Given the description of an element on the screen output the (x, y) to click on. 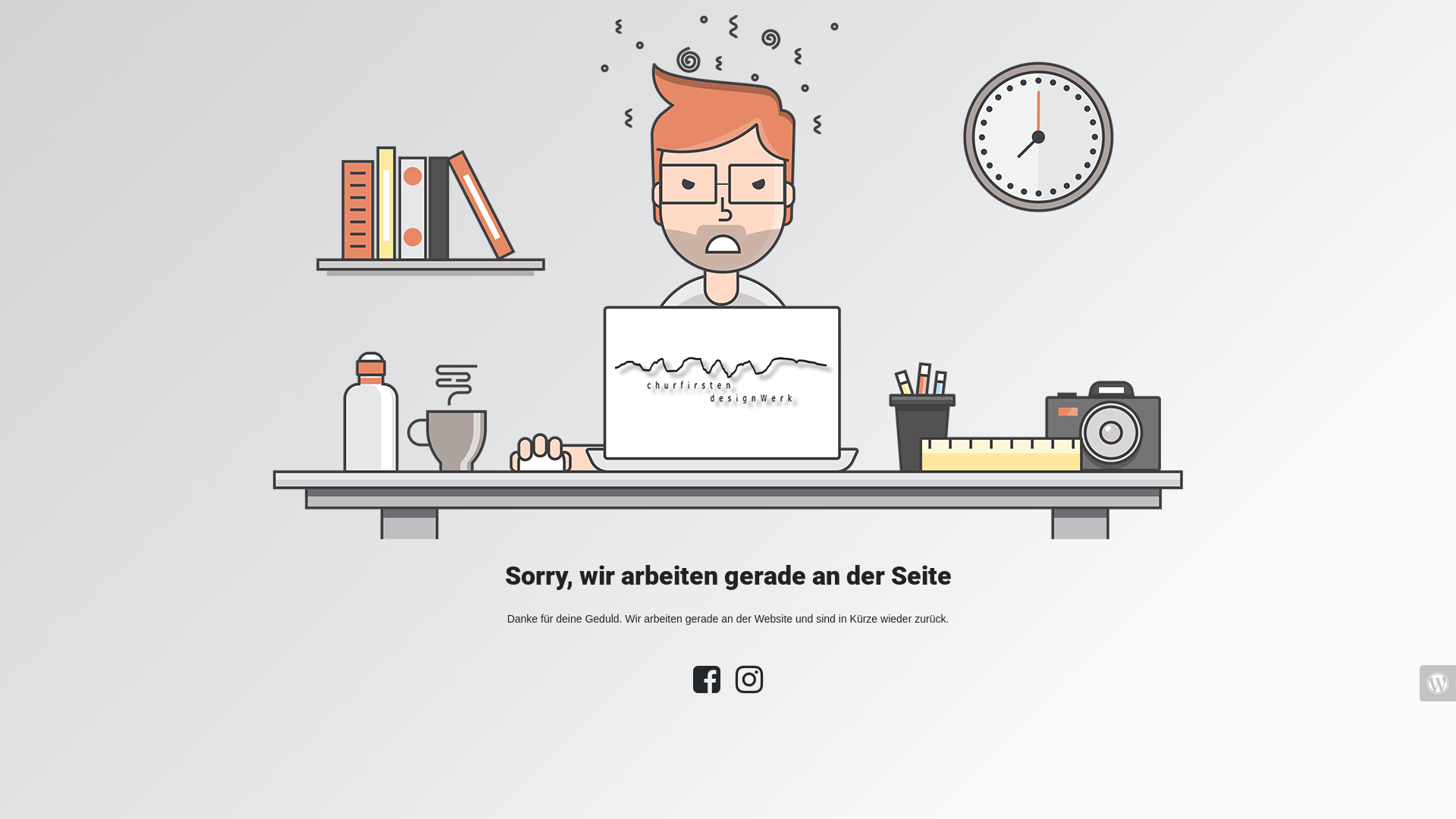
Facebook Element type: hover (706, 686)
Instagram Element type: hover (749, 686)
Mad Designer at work Element type: hover (728, 277)
